Given the description of an element on the screen output the (x, y) to click on. 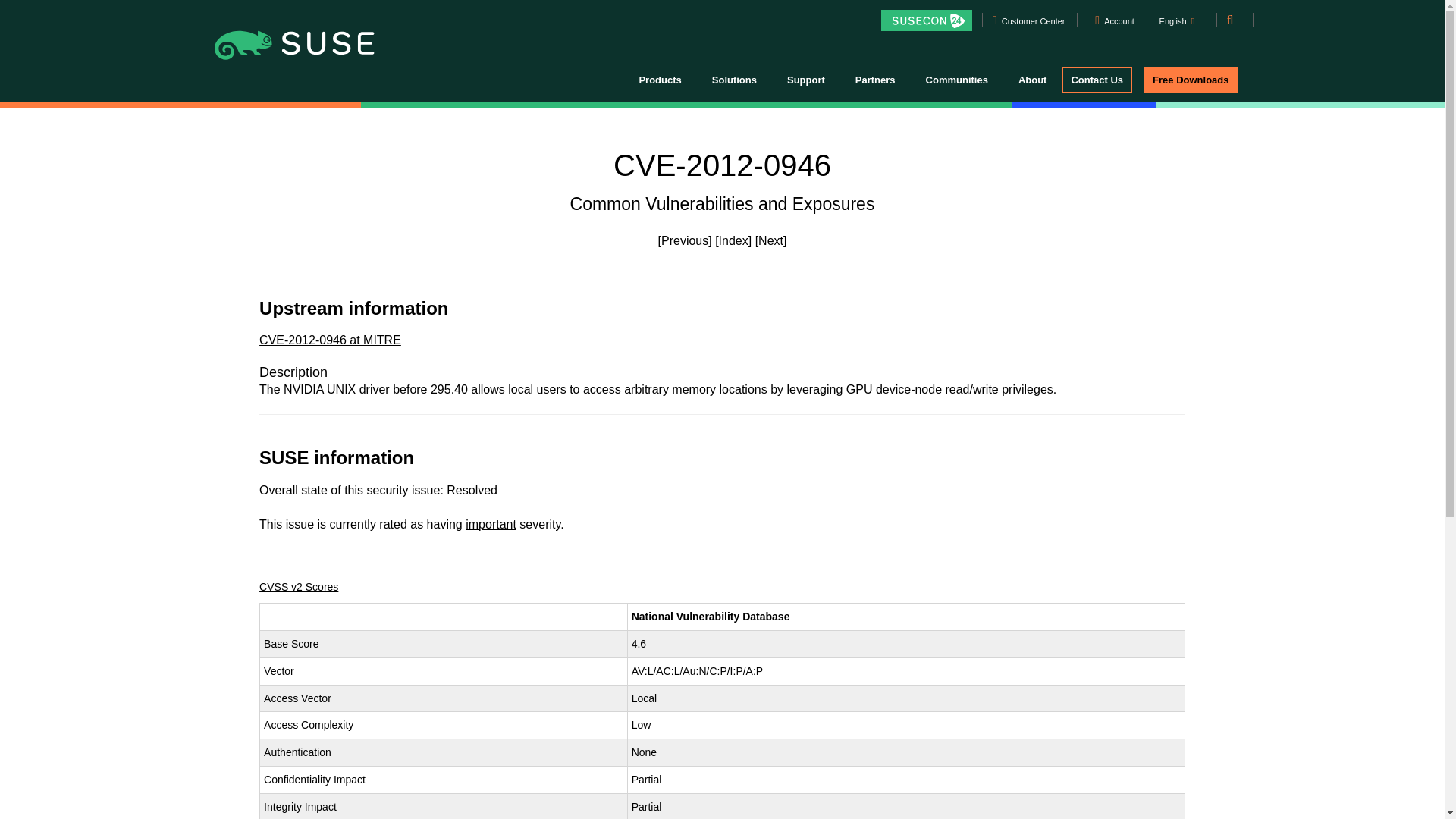
Products (659, 79)
Customer Center (1032, 23)
About (1032, 79)
Communities (957, 79)
Partners (875, 79)
Contact Us (1096, 79)
Account (1119, 23)
Support (805, 79)
Solutions (734, 79)
Free Downloads (1189, 79)
